Given the description of an element on the screen output the (x, y) to click on. 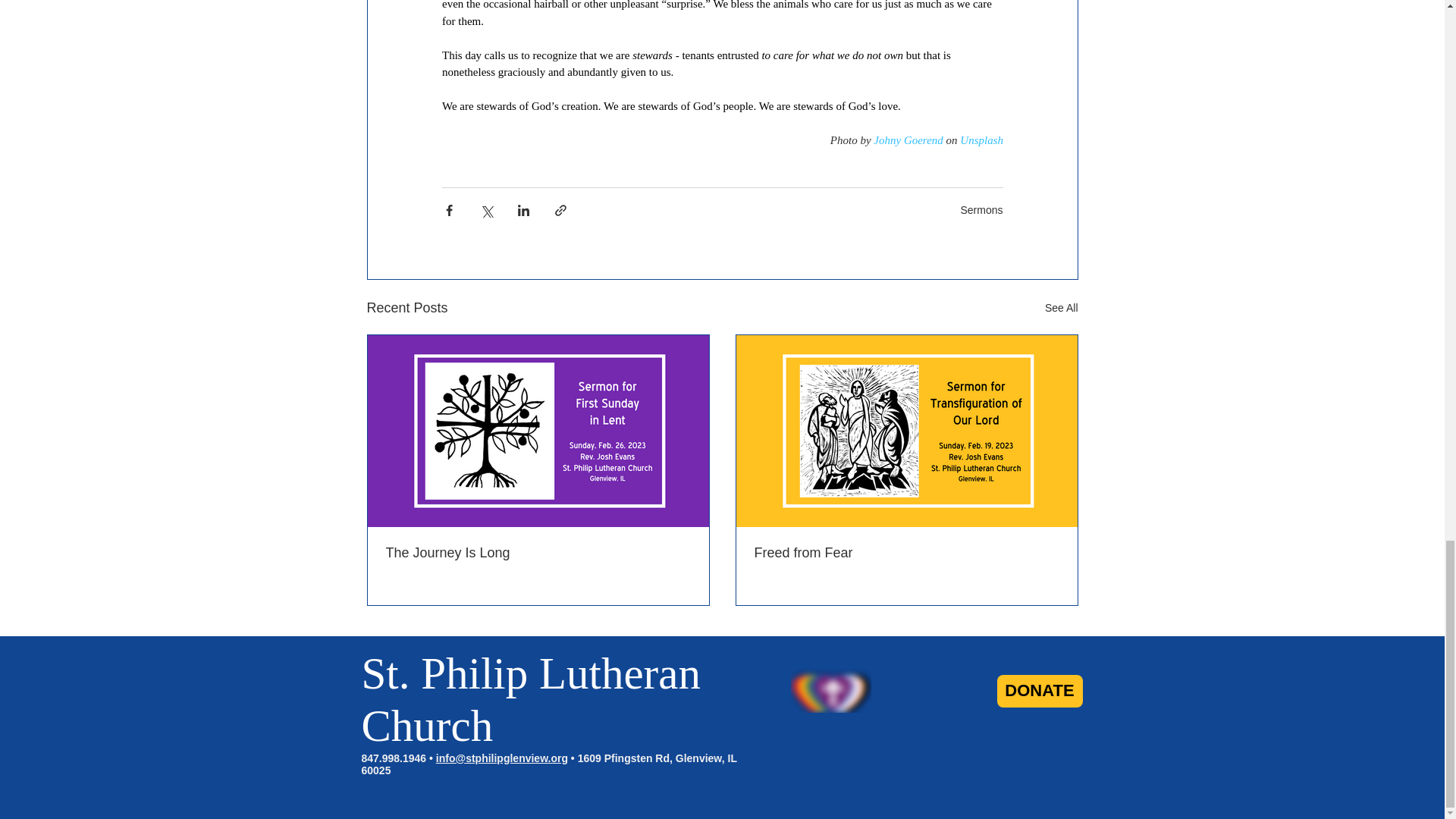
See All (1061, 308)
Unsplash (981, 140)
Johny Goerend (908, 140)
Sermons (981, 209)
